Given the description of an element on the screen output the (x, y) to click on. 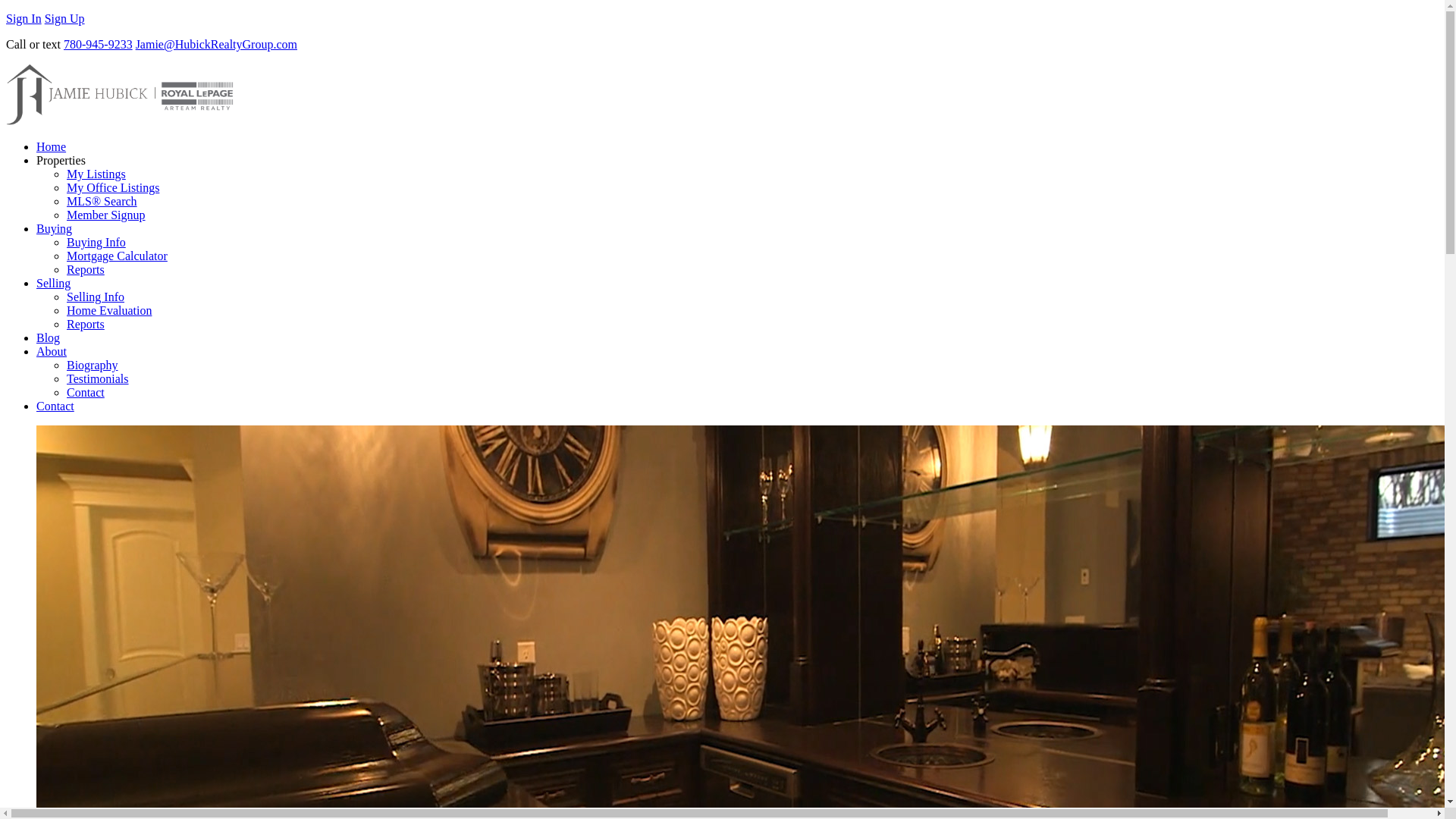
About (51, 350)
Reports (85, 323)
Sign Up (64, 18)
Blog (47, 337)
Member Signup (105, 214)
Contact (85, 391)
My Listings (95, 173)
Selling Info (94, 296)
Sign In (23, 18)
Testimonials (97, 378)
